Given the description of an element on the screen output the (x, y) to click on. 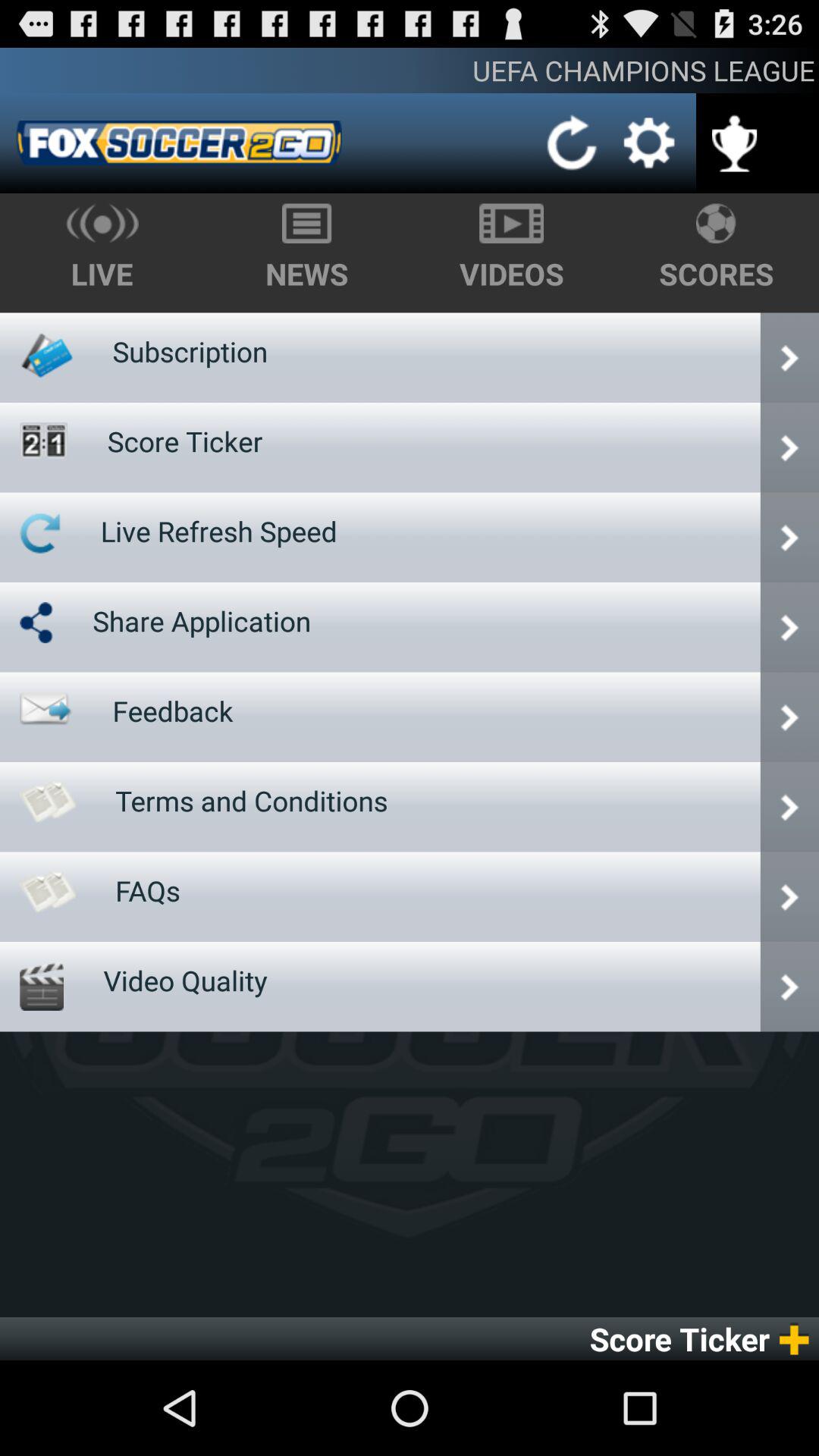
open item below score ticker item (218, 530)
